Given the description of an element on the screen output the (x, y) to click on. 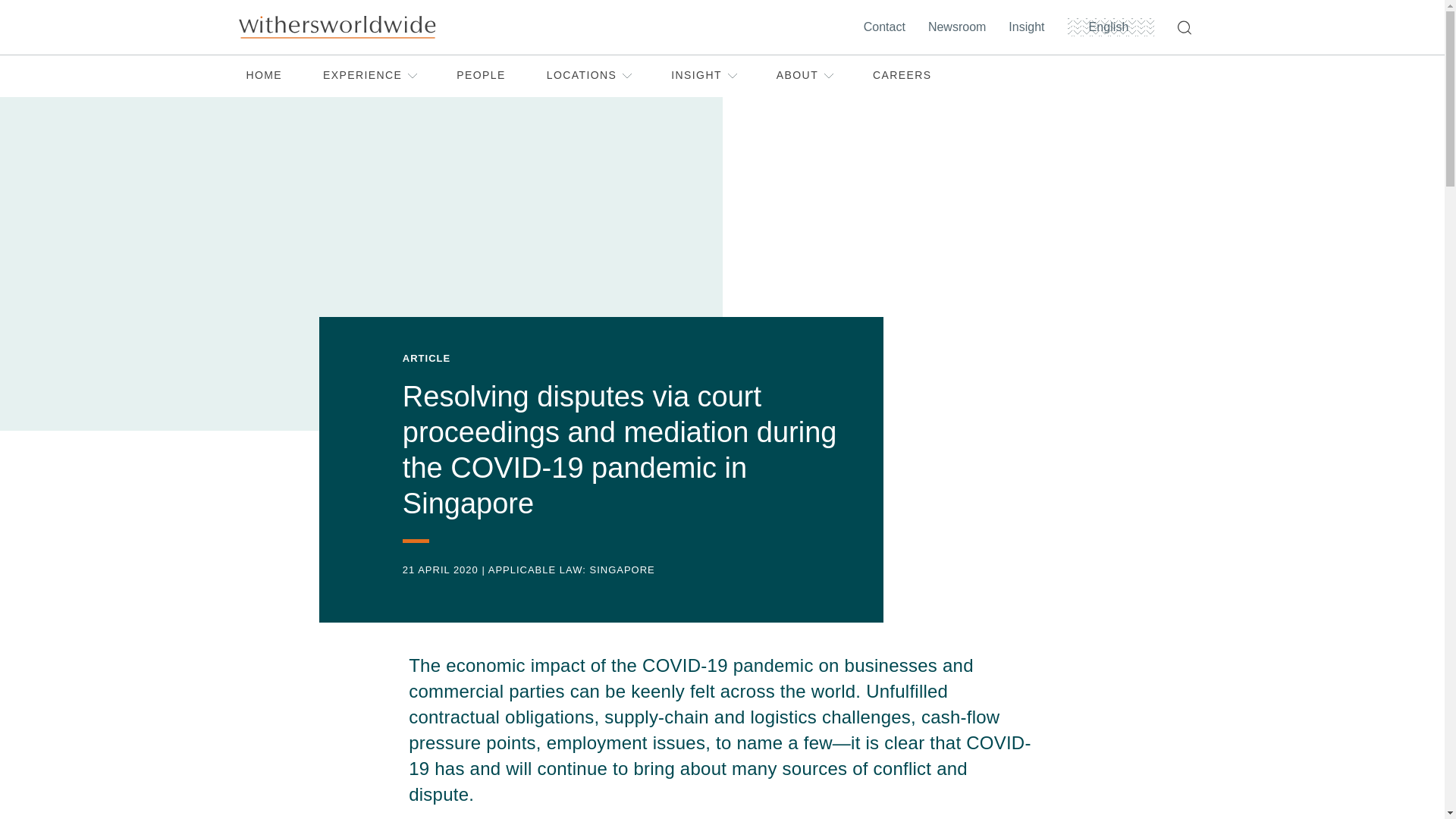
Search (1187, 27)
Insight (1030, 27)
Newsroom (960, 27)
HOME (263, 75)
Home (336, 26)
Contact (888, 27)
